Given the description of an element on the screen output the (x, y) to click on. 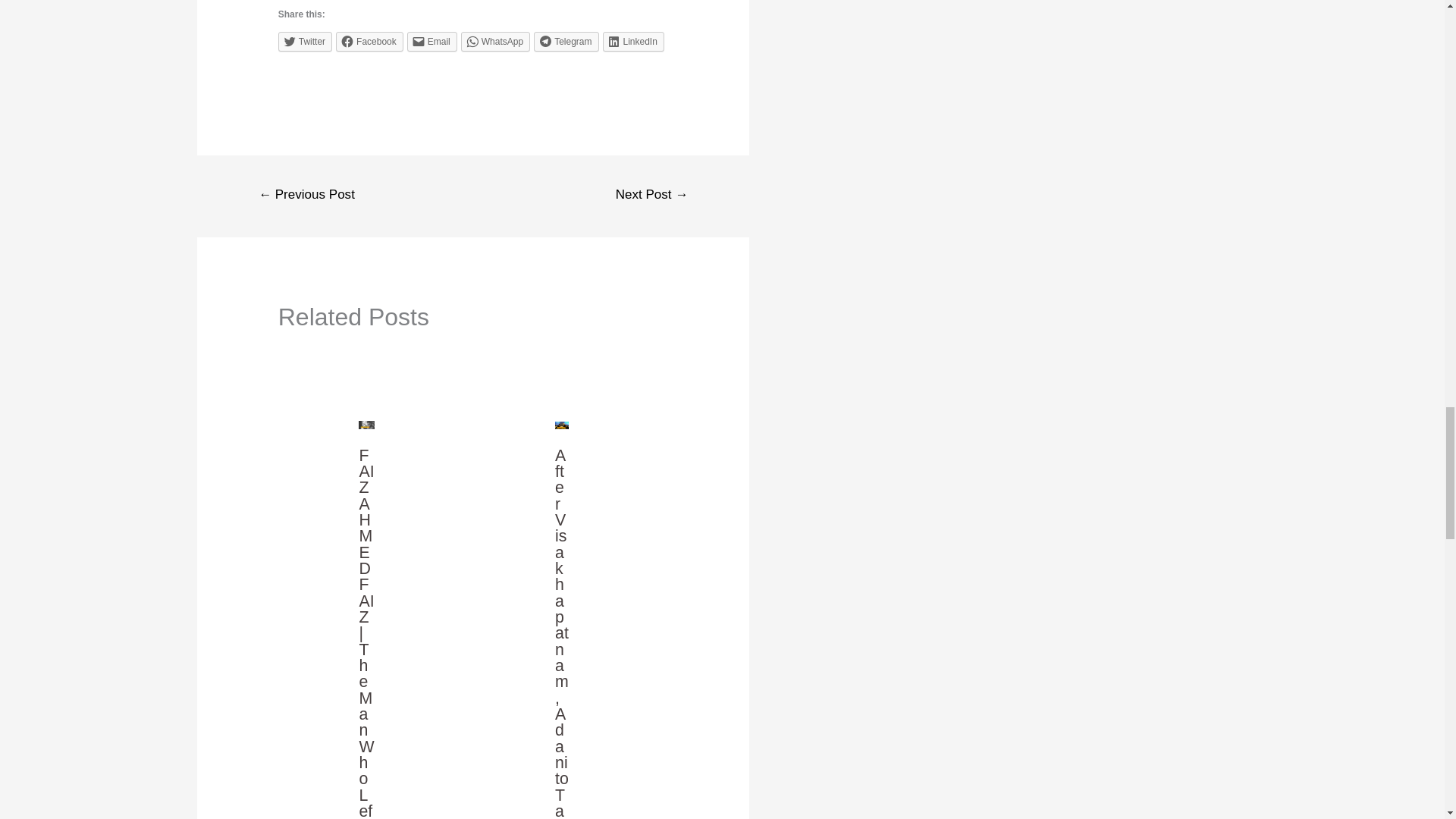
Click to share on Twitter (304, 41)
Click to share on WhatsApp (495, 41)
Click to share on Facebook (369, 41)
LinkedIn (632, 41)
WhatsApp (495, 41)
Click to email a link to a friend (432, 41)
Email (432, 41)
Telegram (566, 41)
Click to share on Telegram (566, 41)
Click to share on LinkedIn (632, 41)
Twitter (304, 41)
Facebook (369, 41)
